Given the description of an element on the screen output the (x, y) to click on. 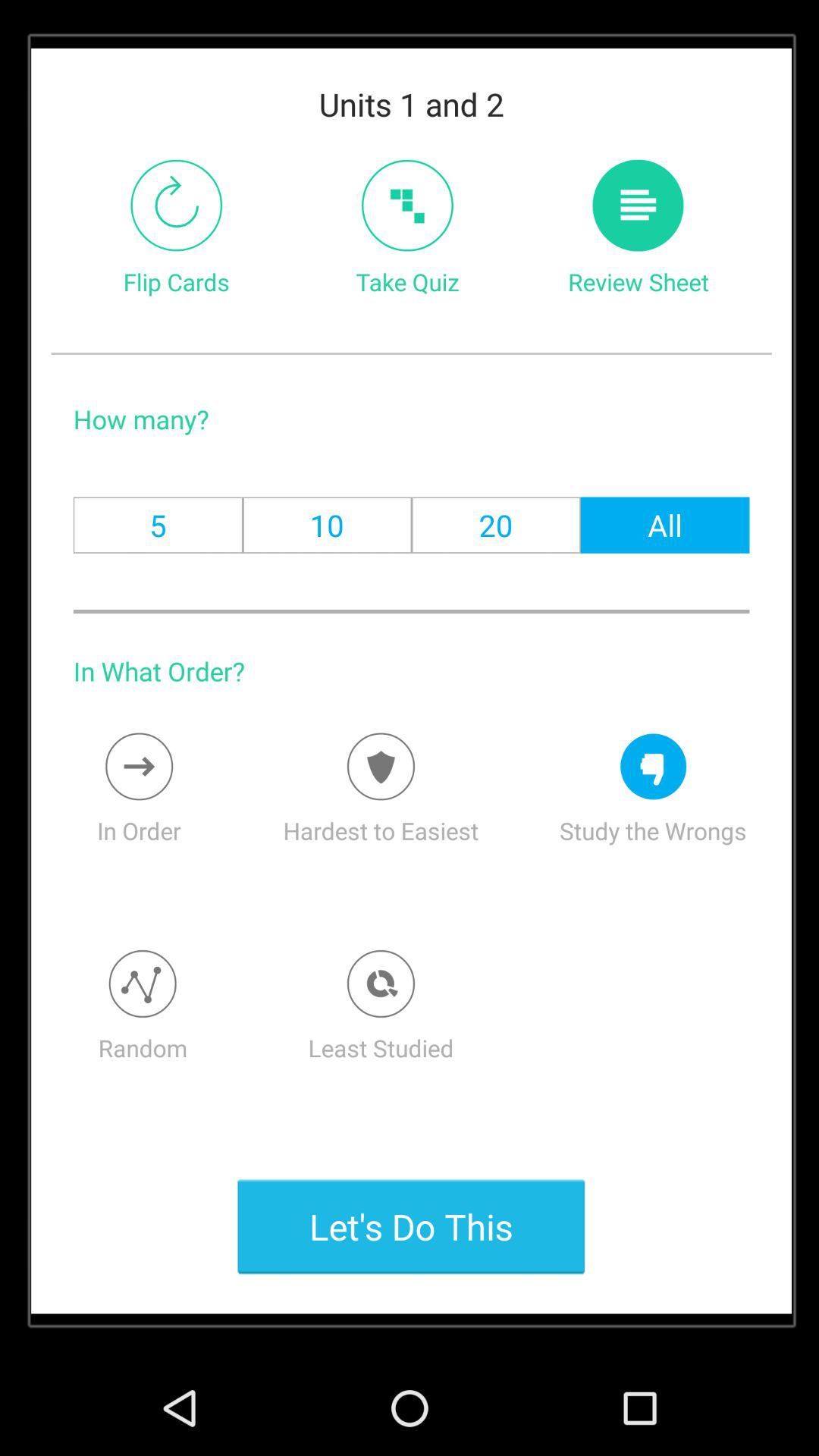
opens the review sheet tab (638, 205)
